Given the description of an element on the screen output the (x, y) to click on. 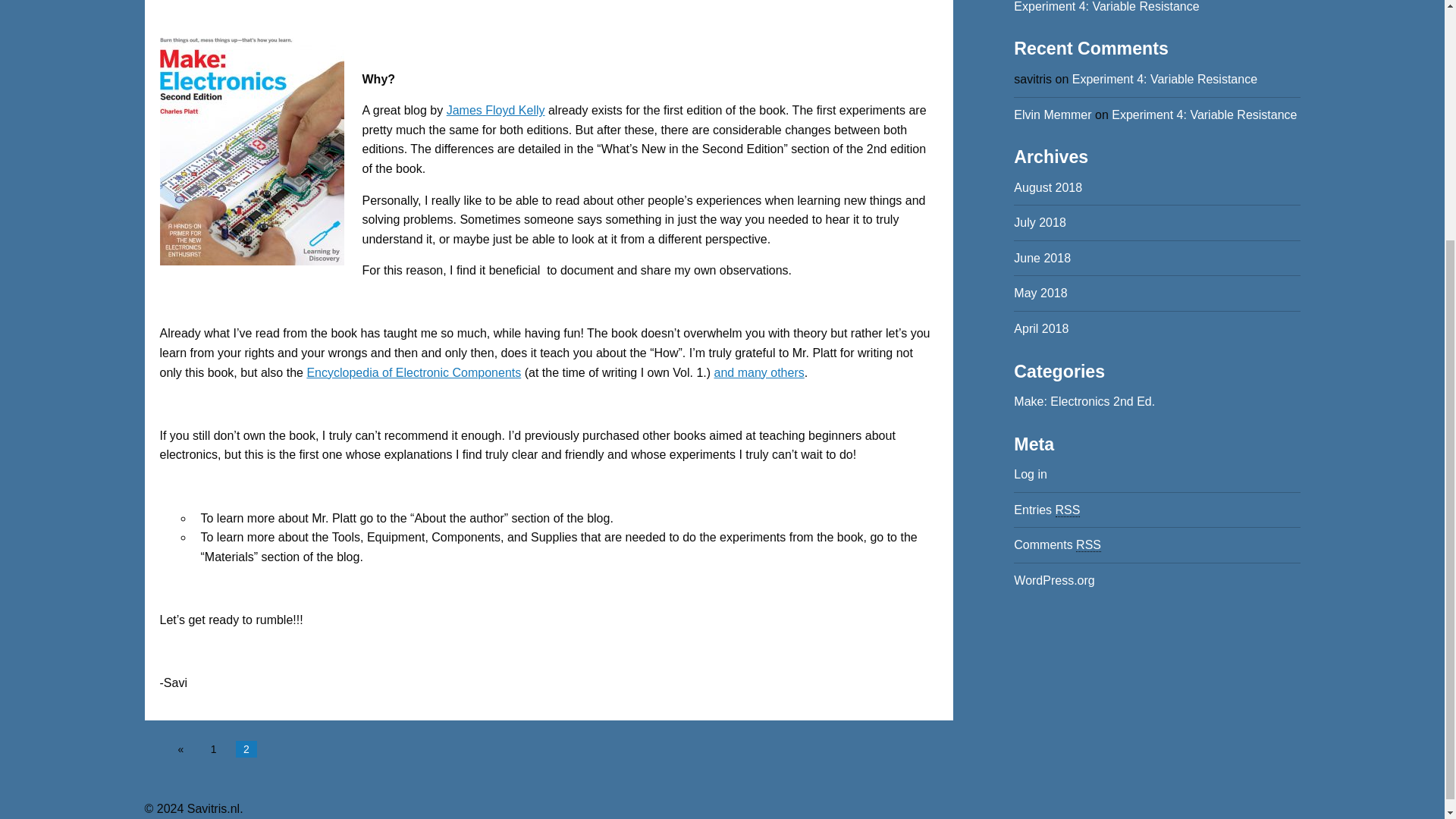
Comments RSS (1056, 545)
Log in (1029, 473)
Elvin Memmer (1051, 114)
Make: Electronics 2nd Ed. (1083, 400)
James Floyd Kelly (495, 110)
August 2018 (1047, 187)
Really Simple Syndication (1067, 509)
Experiment 4: Variable Resistance (1204, 114)
1 (213, 749)
Experiment 4: Variable Resistance (1105, 6)
